Given the description of an element on the screen output the (x, y) to click on. 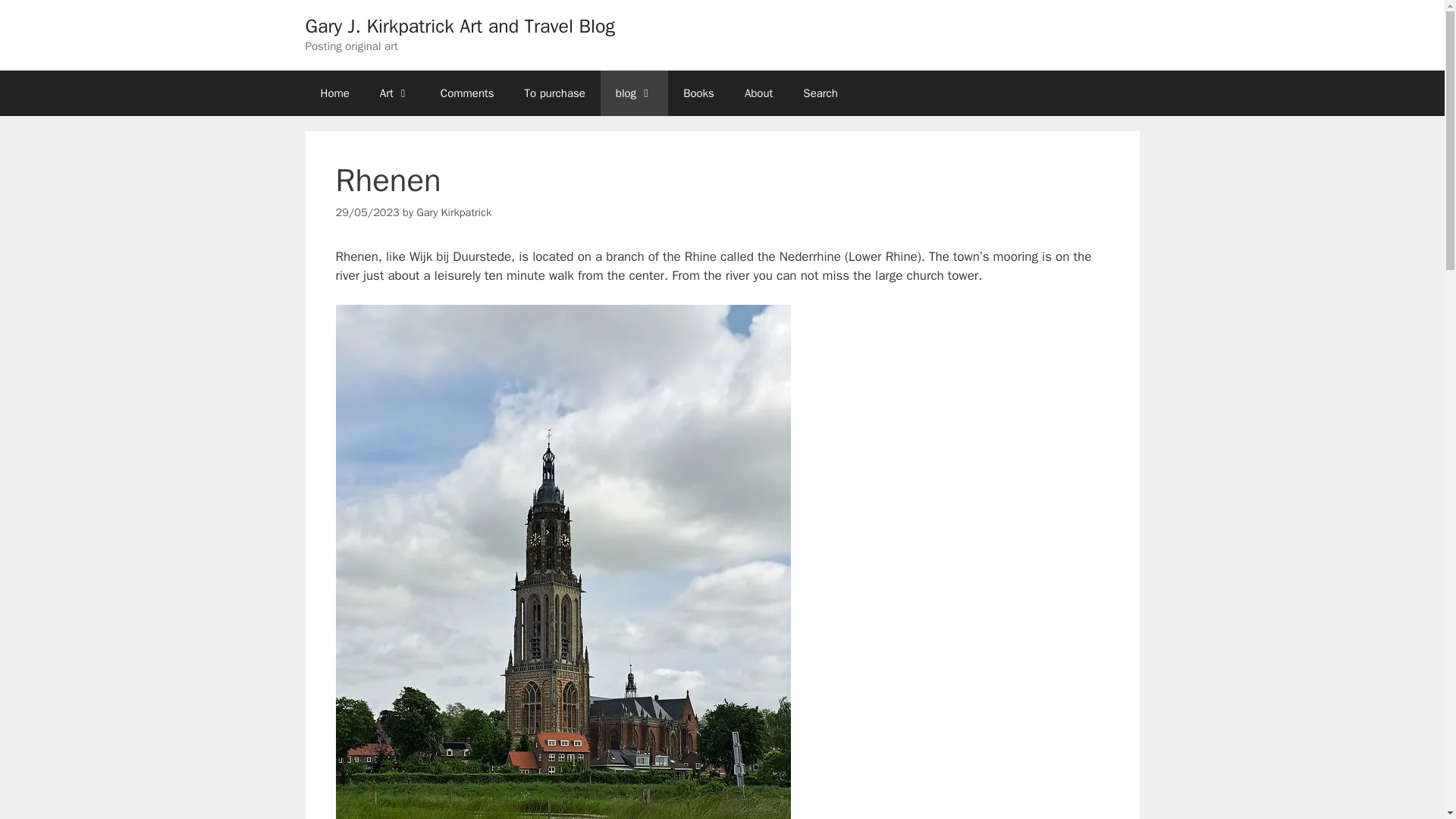
View all posts by Gary Kirkpatrick (454, 212)
Home (334, 92)
blog (633, 92)
Art (395, 92)
Comments (467, 92)
To purchase (554, 92)
Gary J. Kirkpatrick Art and Travel Blog (459, 25)
